Given the description of an element on the screen output the (x, y) to click on. 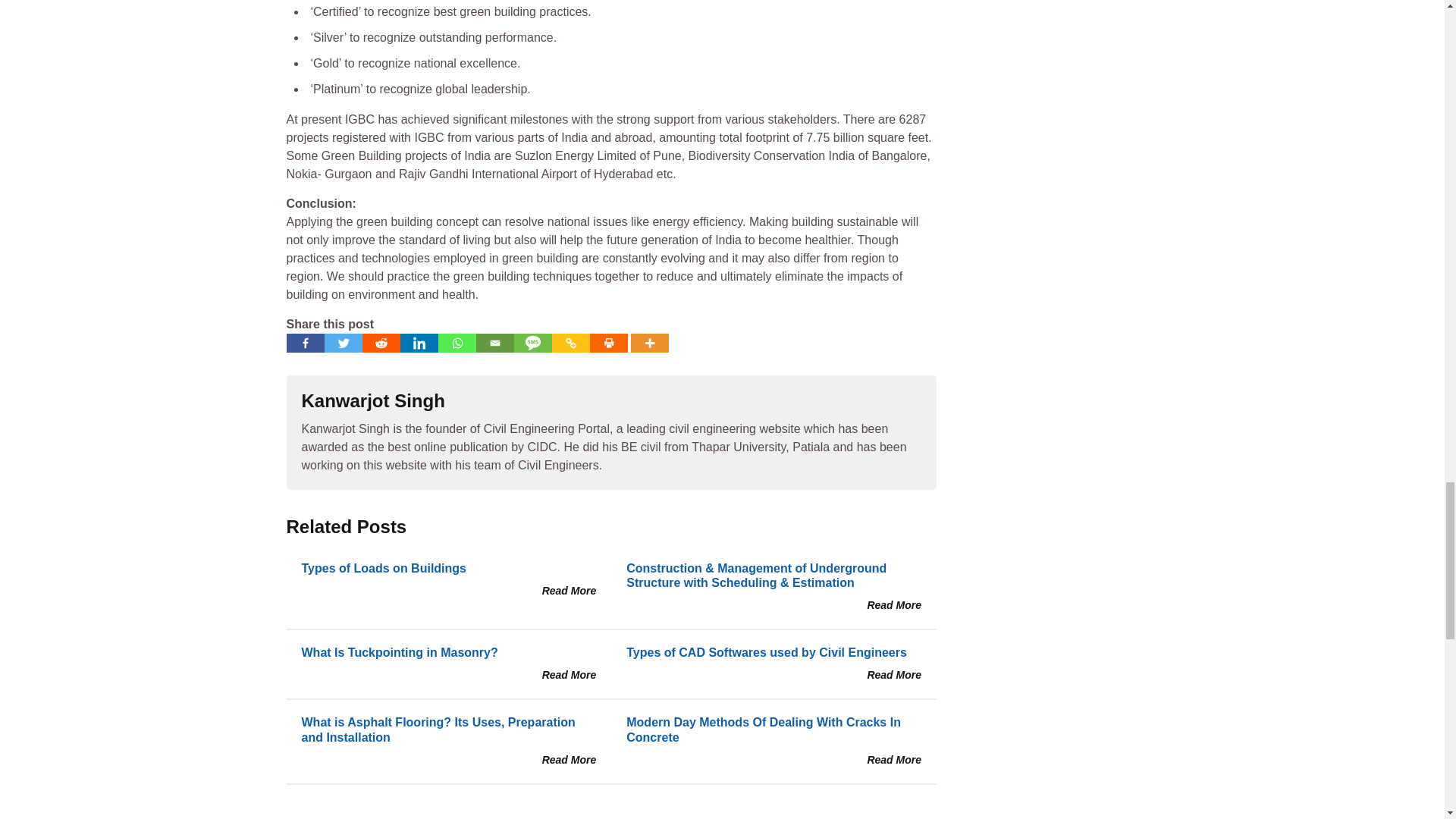
Linkedin (419, 342)
Facebook (305, 342)
What Is Tuckpointing in Masonry? (399, 652)
Types of Loads on Buildings (383, 567)
Reddit (381, 342)
More (649, 342)
SMS (532, 342)
Twitter (343, 342)
Copy Link (570, 342)
Whatsapp (457, 342)
